Given the description of an element on the screen output the (x, y) to click on. 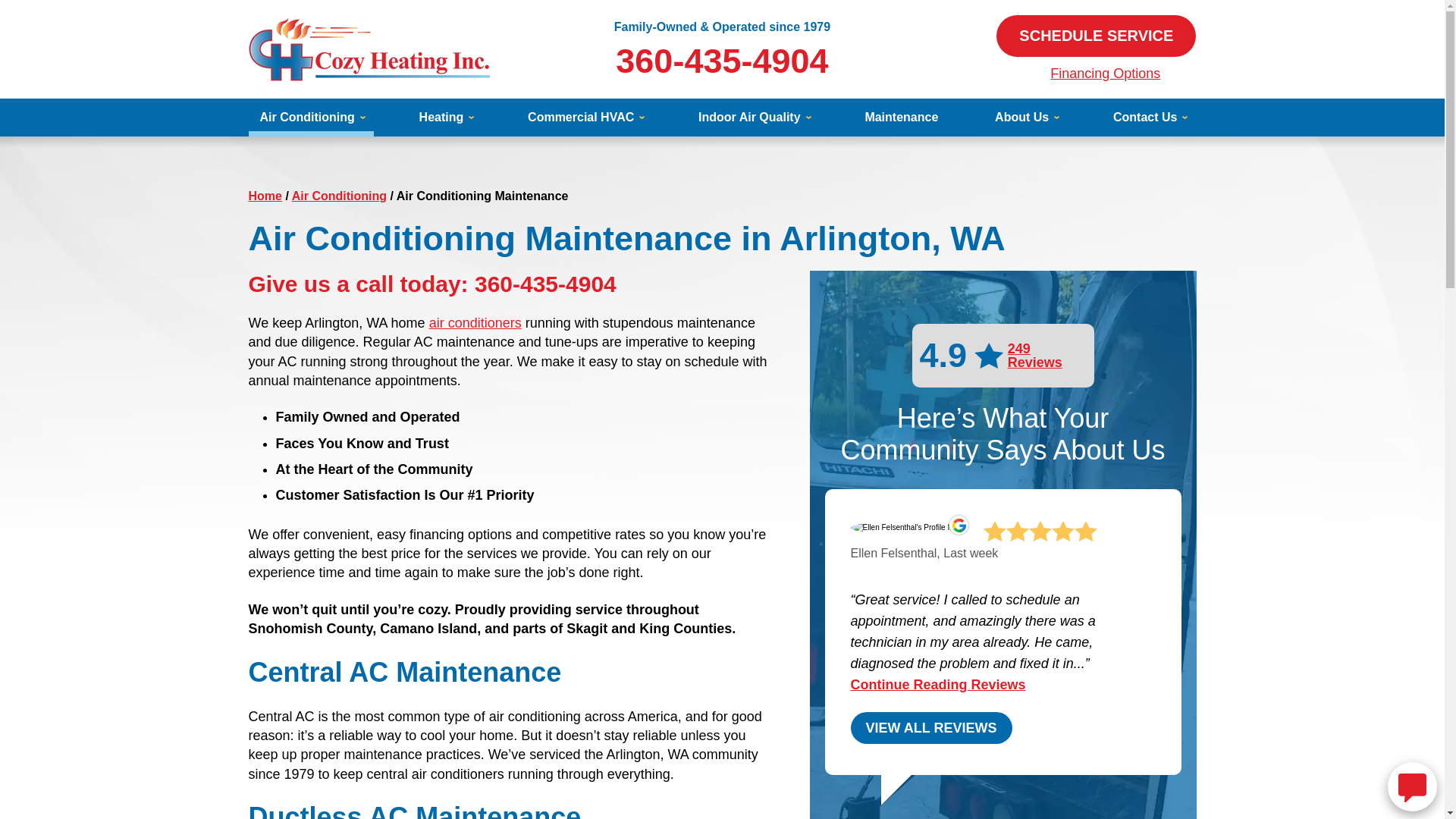
Commercial HVAC (584, 117)
SCHEDULE SERVICE (1095, 35)
Indoor Air Quality (753, 117)
Financing Options (1104, 73)
Heating (445, 117)
Air Conditioning (311, 117)
HVAC and Indoor Air Quality Services in Arlington, WA (265, 195)
Air Conditioning Services in Arlington, WA (339, 195)
360-435-4904 (721, 60)
